Given the description of an element on the screen output the (x, y) to click on. 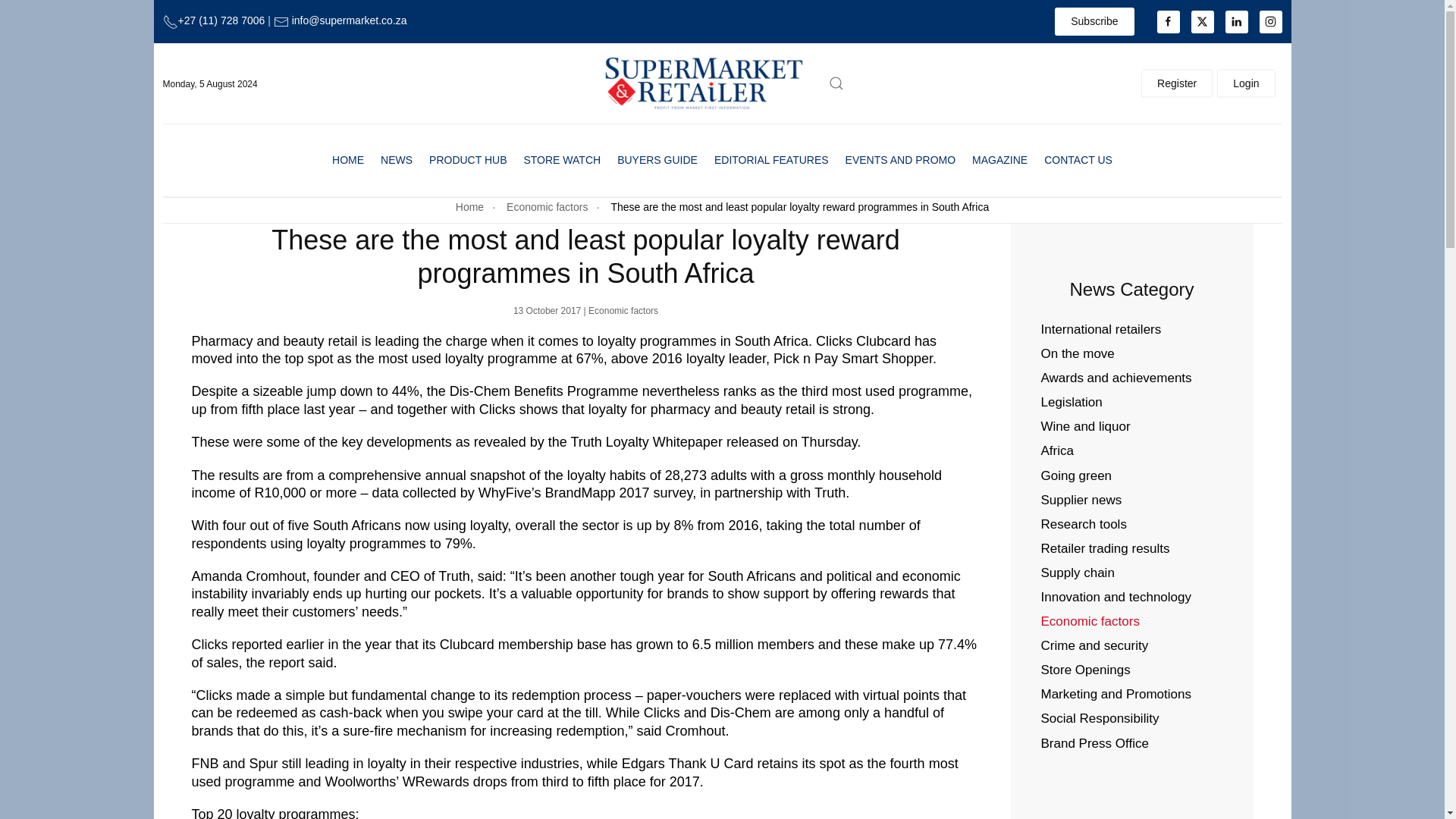
Login (1246, 83)
Register (1176, 83)
Subscribe (1094, 21)
